Given the description of an element on the screen output the (x, y) to click on. 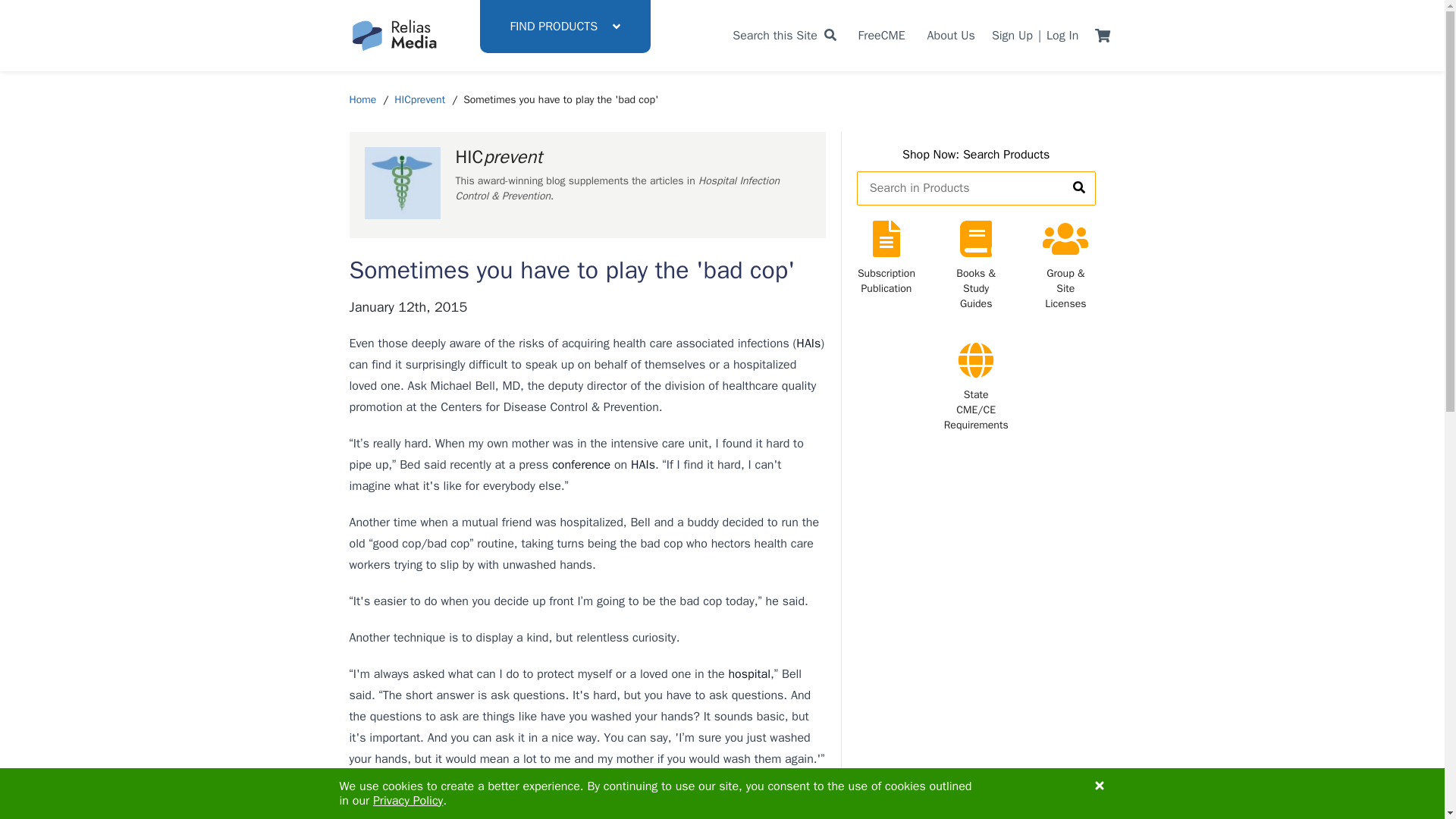
Log In (1062, 35)
FIND PRODUCTS (564, 26)
Home (362, 99)
Search this Site (783, 35)
About Us (951, 35)
Sign Up (1011, 35)
HICprevent (419, 99)
FreeCME (882, 35)
